Given the description of an element on the screen output the (x, y) to click on. 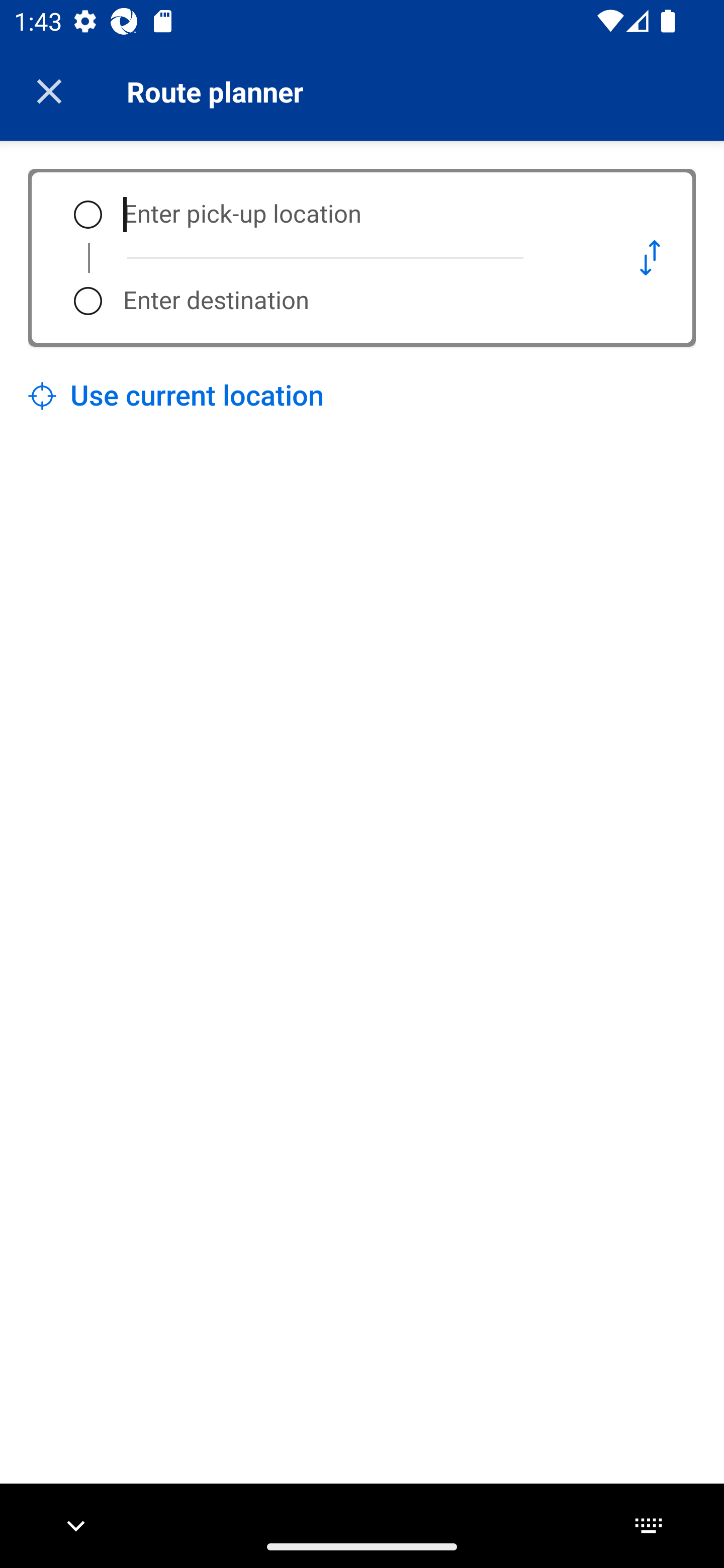
Close (49, 91)
Enter pick-up location (355, 214)
Swap pick-up location and destination (650, 257)
Enter destination (355, 300)
Use current location (176, 395)
